Given the description of an element on the screen output the (x, y) to click on. 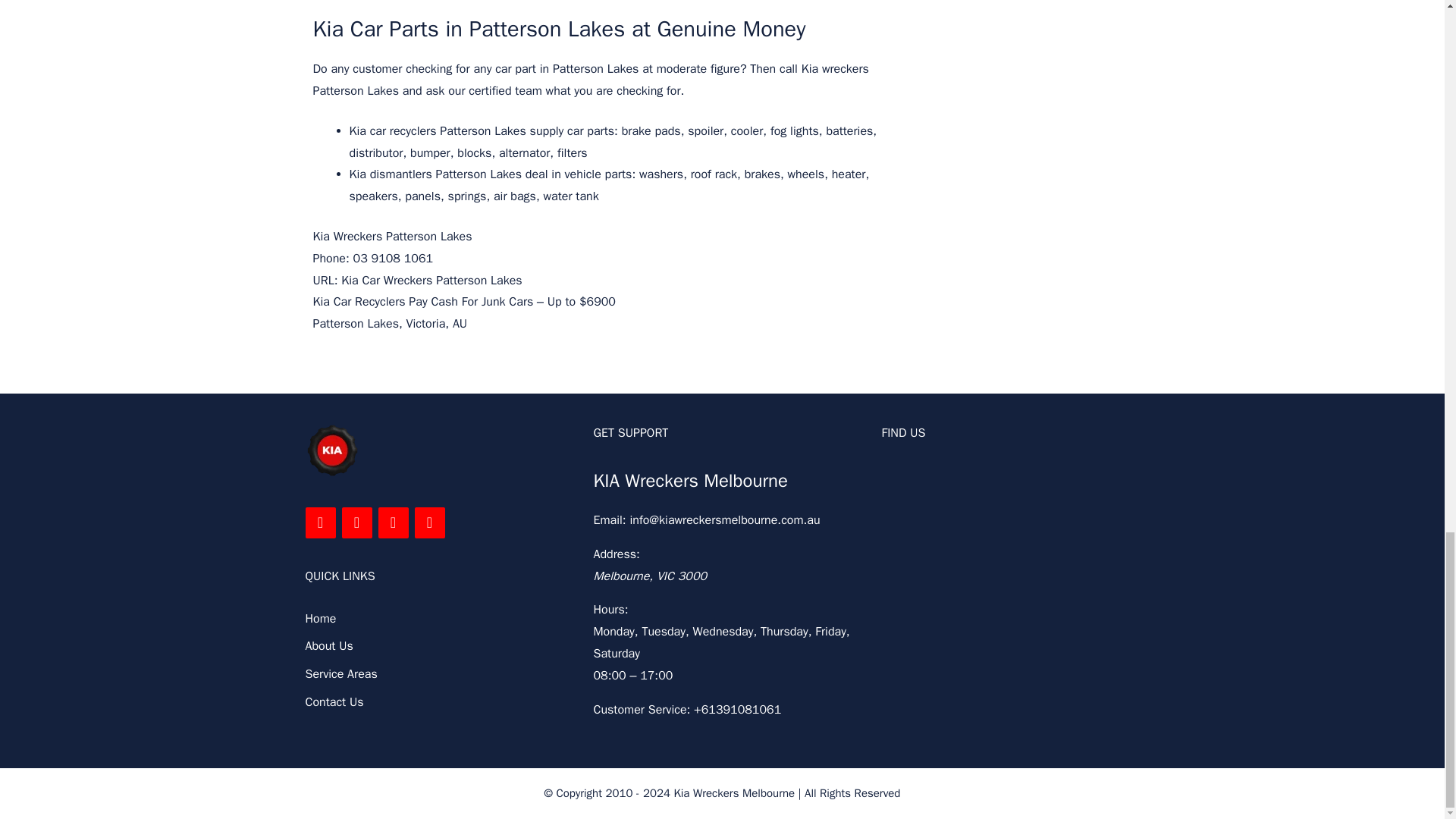
Service Areas (340, 673)
Kia Car Wreckers Patterson Lakes (430, 280)
Facebook (319, 522)
Kia Wreckers Melbourne (733, 793)
LinkedIn (355, 522)
Contact Us (333, 702)
Contact (428, 522)
Kia Wreckers Melbourne (331, 450)
About Us (328, 645)
KIA Wreckers Melbourne (689, 480)
Home (320, 618)
